Given the description of an element on the screen output the (x, y) to click on. 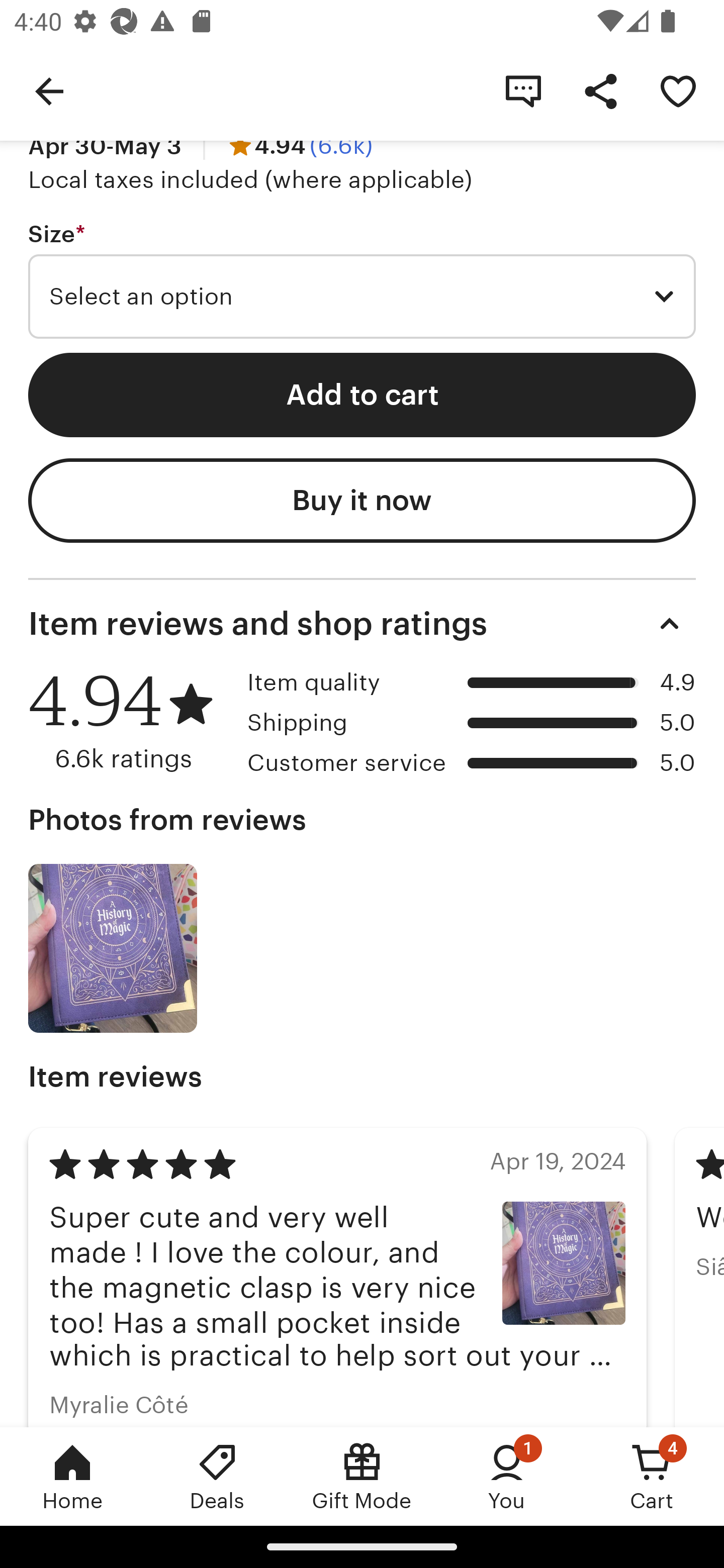
Navigate up (49, 90)
Contact shop (523, 90)
Share (600, 90)
4.94 (6.6k) (298, 145)
Size * Required Select an option (361, 279)
Select an option (361, 296)
Add to cart (361, 394)
Buy it now (361, 499)
Item reviews and shop ratings (362, 623)
4.94 6.6k ratings (130, 721)
Photo from review (112, 948)
Deals (216, 1475)
Gift Mode (361, 1475)
You, 1 new notification You (506, 1475)
Cart, 4 new notifications Cart (651, 1475)
